Given the description of an element on the screen output the (x, y) to click on. 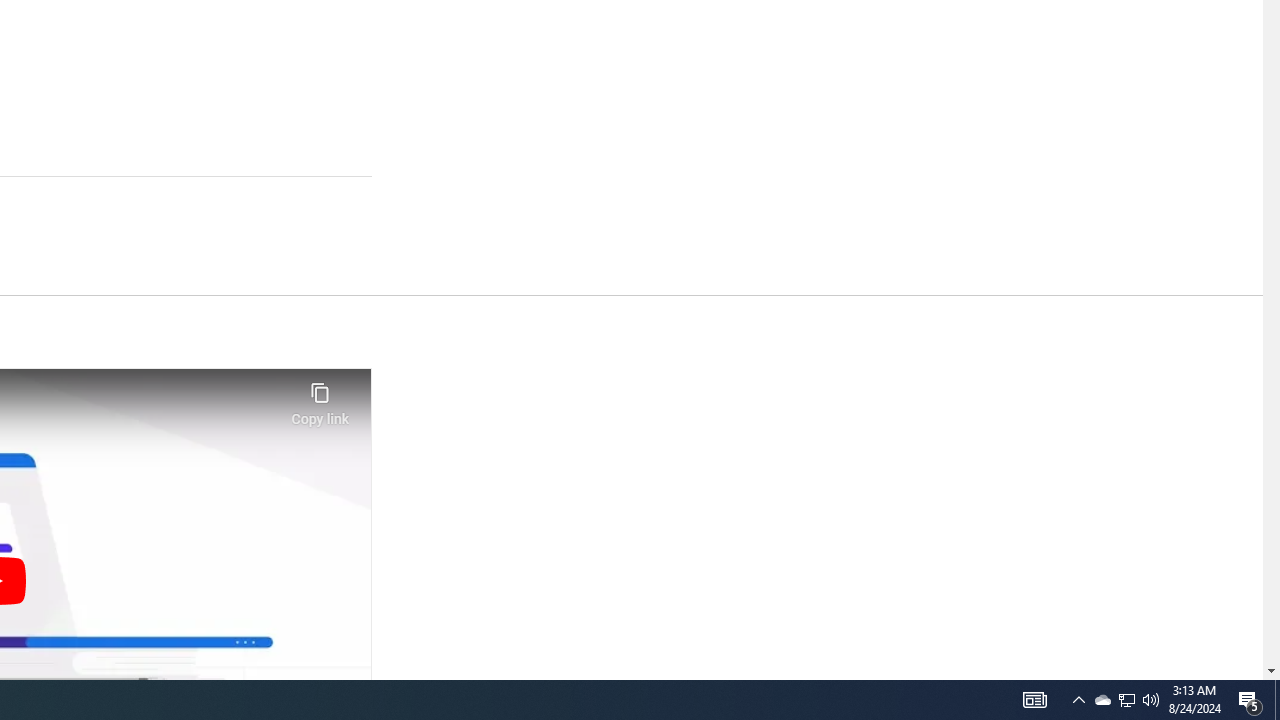
Copy link (319, 398)
